Given the description of an element on the screen output the (x, y) to click on. 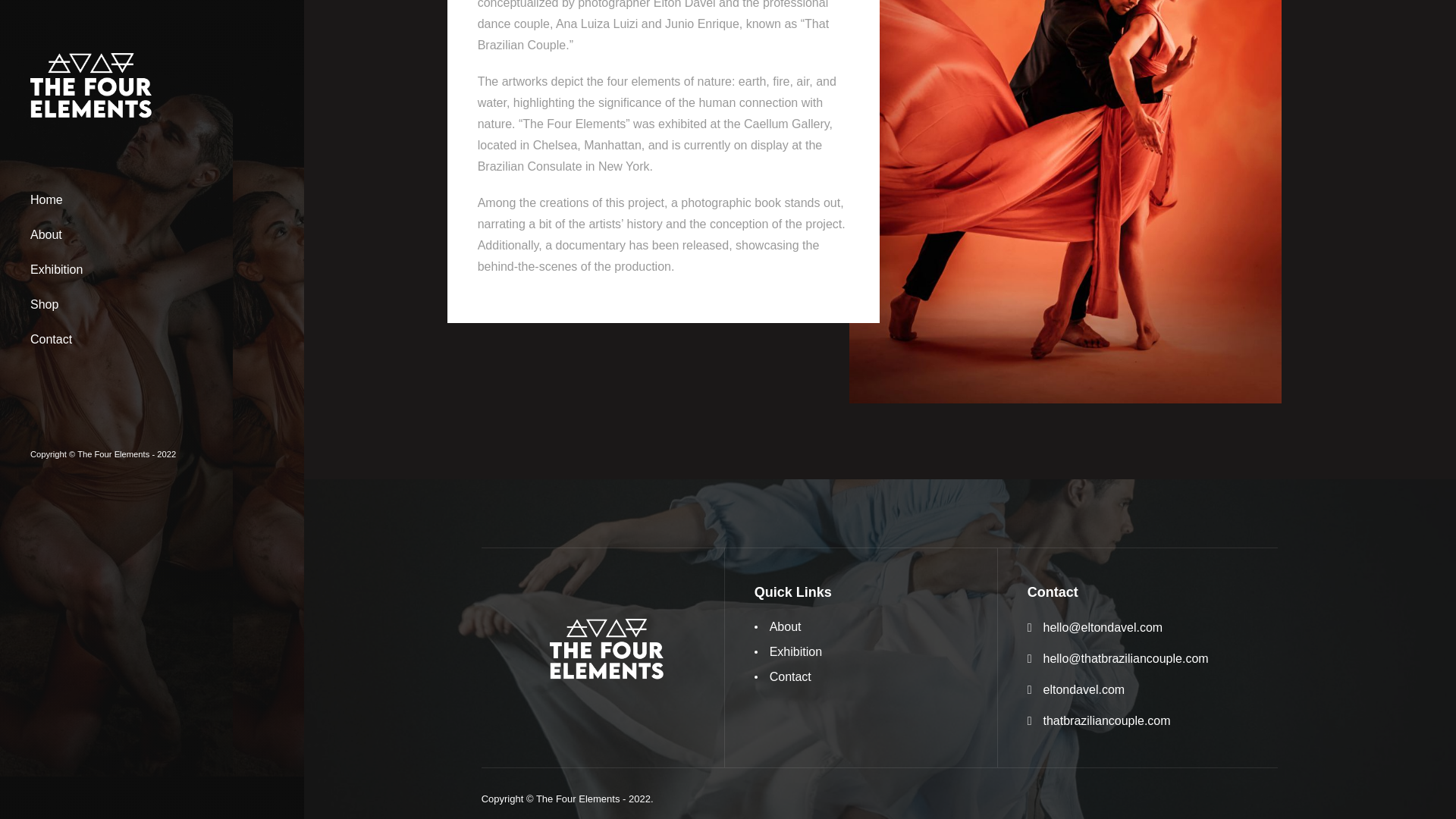
About (778, 626)
eltondavel.com (1084, 690)
thatbraziliancouple.com (1106, 721)
Contact (782, 676)
Exhibition (788, 651)
